Given the description of an element on the screen output the (x, y) to click on. 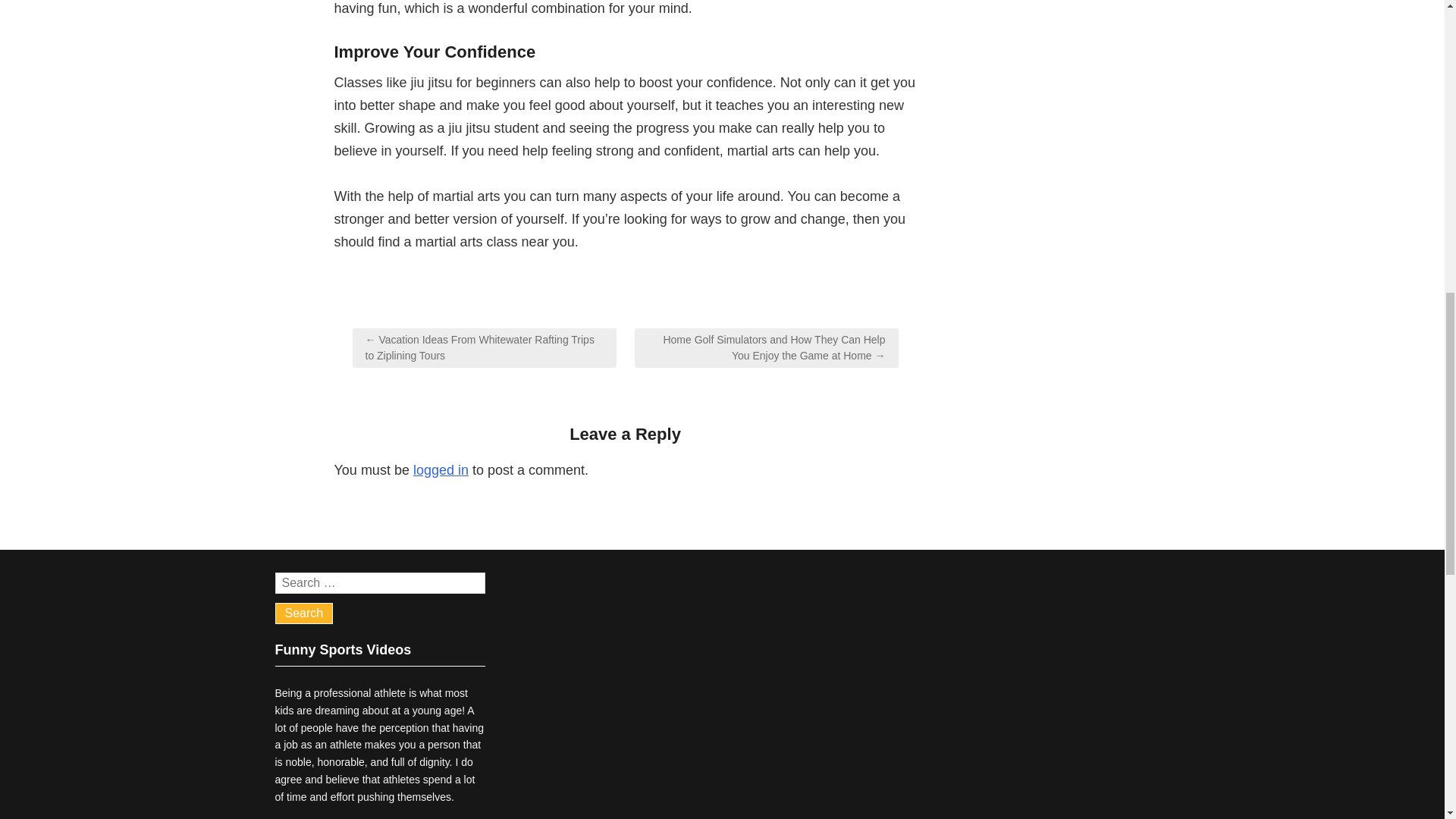
Search (304, 613)
logged in (440, 469)
Search (304, 613)
Search (304, 613)
